Given the description of an element on the screen output the (x, y) to click on. 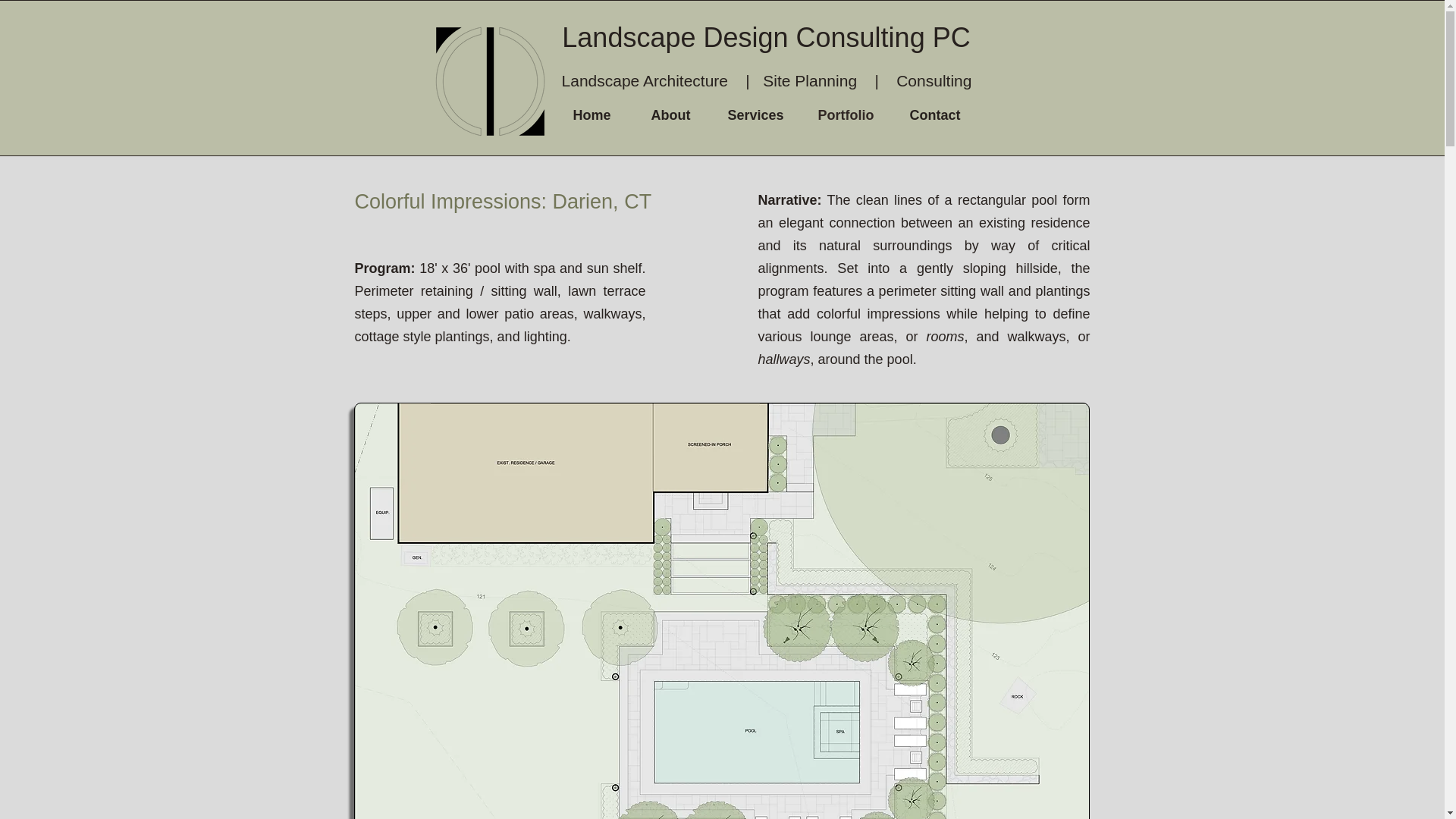
Portfolio (844, 114)
Home (590, 114)
Services (755, 114)
LDC-Clear.tiff (489, 81)
About (670, 114)
Contact (933, 114)
